Given the description of an element on the screen output the (x, y) to click on. 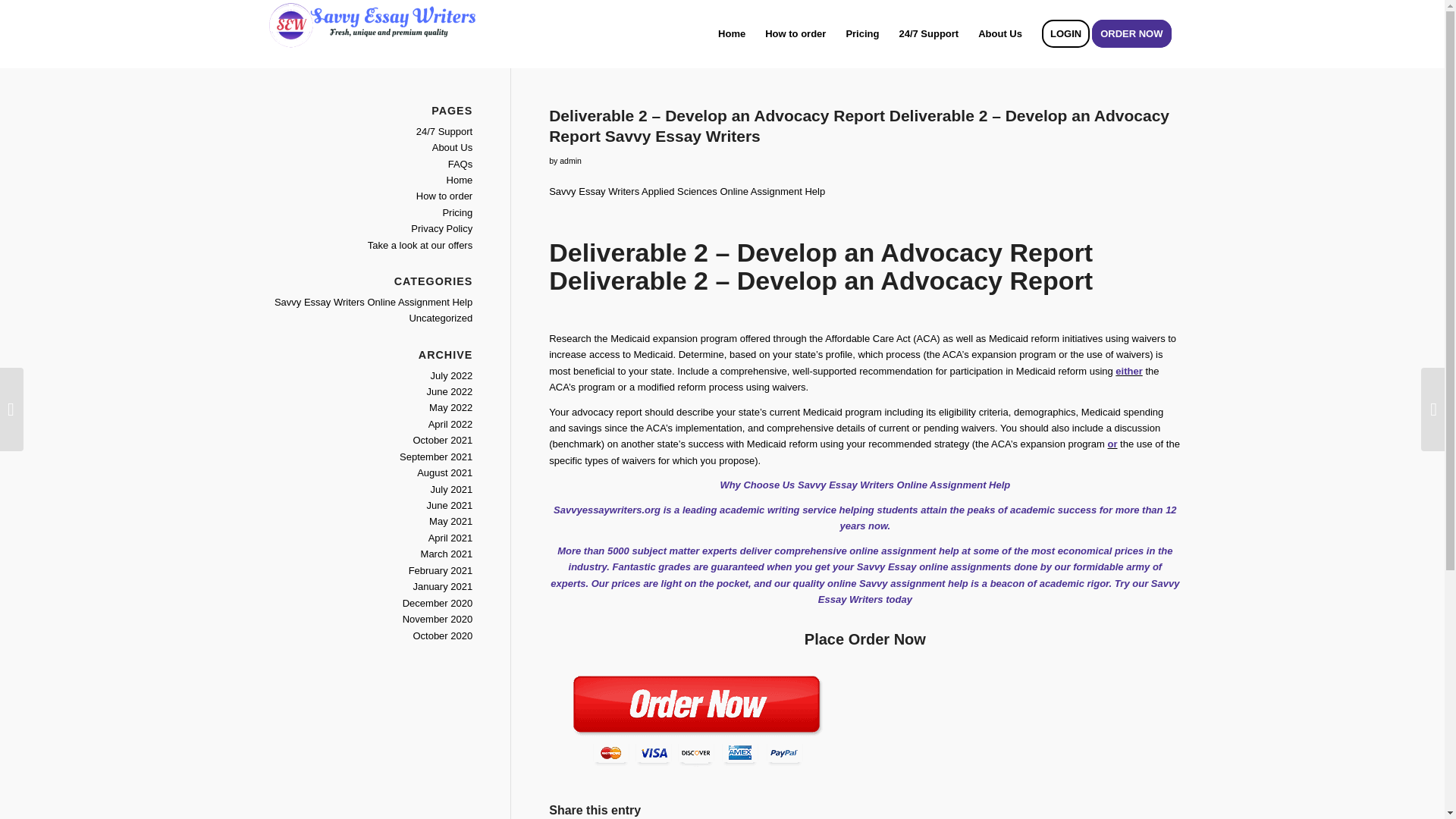
Uncategorized (440, 317)
LOGIN (1065, 33)
May 2022 (450, 407)
FAQs (460, 163)
Home (459, 179)
Place Order Now (865, 638)
Savvy Essay Writers Online Assignment Help (373, 301)
About Us (451, 147)
Try our (1131, 583)
ORDER NOW (1136, 33)
Privacy Policy (440, 228)
About Us (1000, 33)
Assignment Help (970, 484)
Pricing (861, 33)
more than 12 (1145, 509)
